Given the description of an element on the screen output the (x, y) to click on. 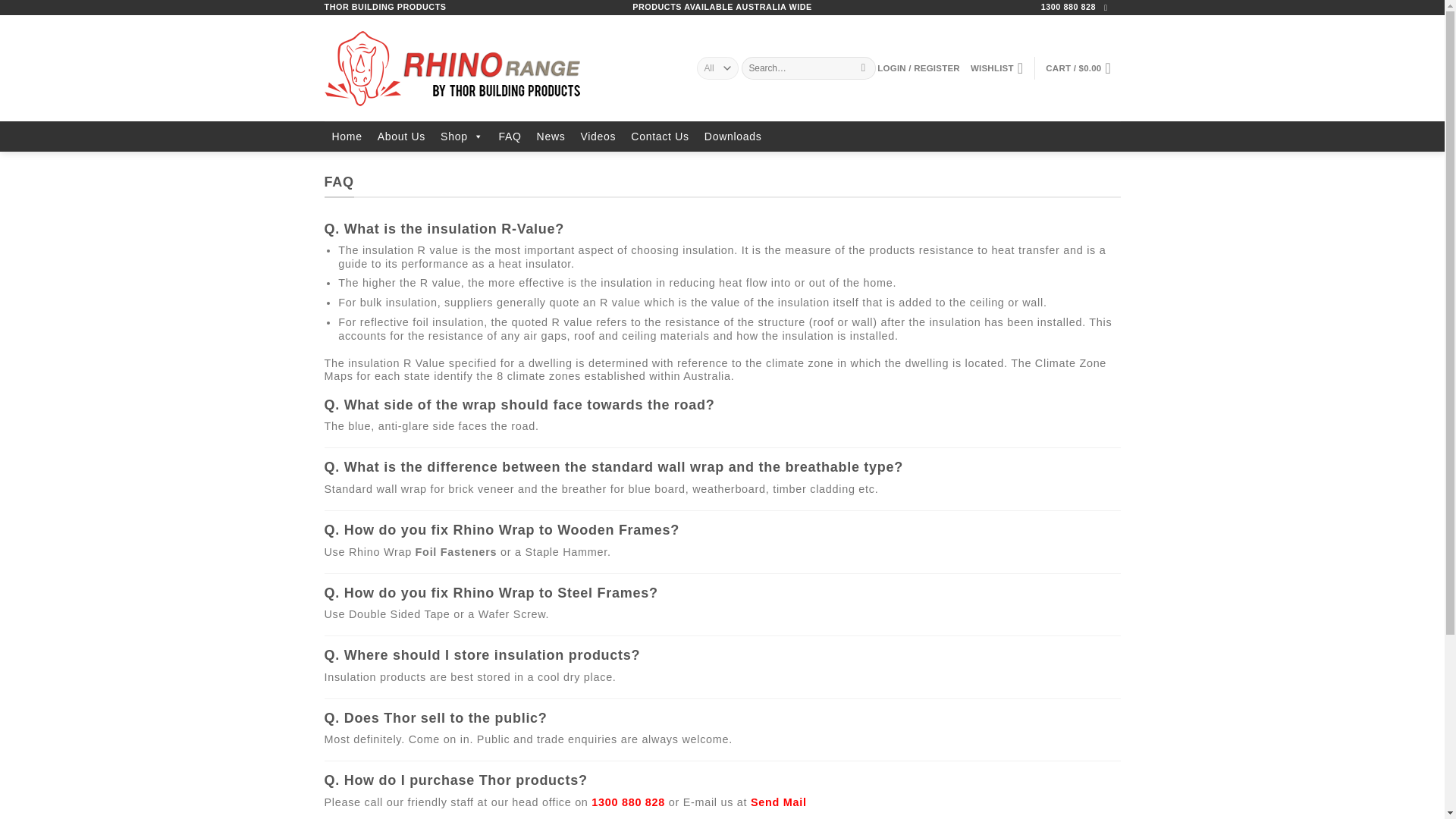
WISHLIST (997, 68)
THOR BUILDING PRODUCTS - RHINO Range of Products (499, 67)
Send Mail (778, 802)
Videos (597, 136)
1300 880 828 (628, 802)
Contact Us (659, 136)
About Us (400, 136)
FAQ (509, 136)
News (551, 136)
1300 880 828 (1068, 6)
Home (346, 136)
Downloads (733, 136)
Send us an email (1107, 7)
Login (918, 67)
Wishlist (997, 68)
